Given the description of an element on the screen output the (x, y) to click on. 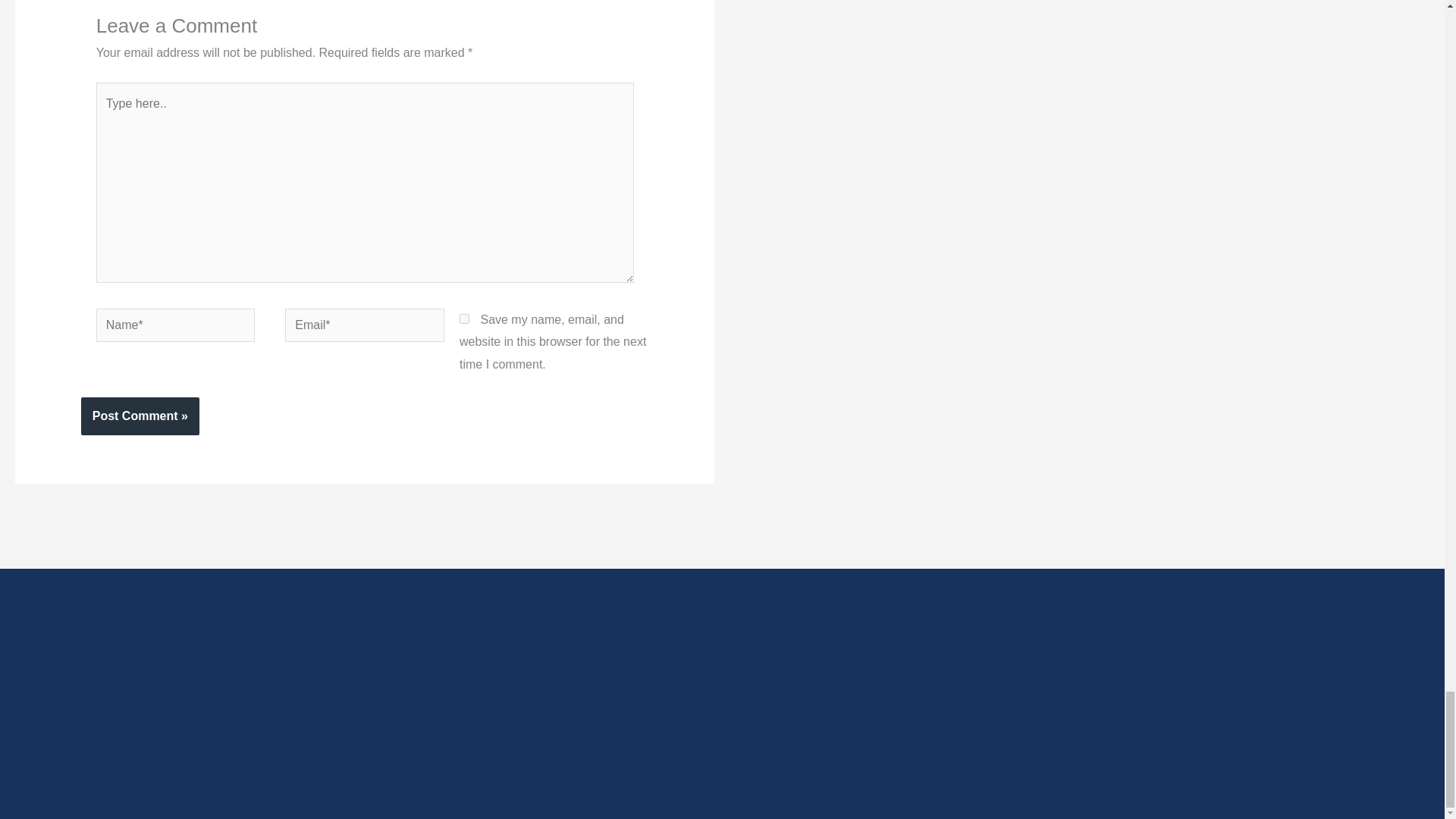
yes (464, 318)
